Given the description of an element on the screen output the (x, y) to click on. 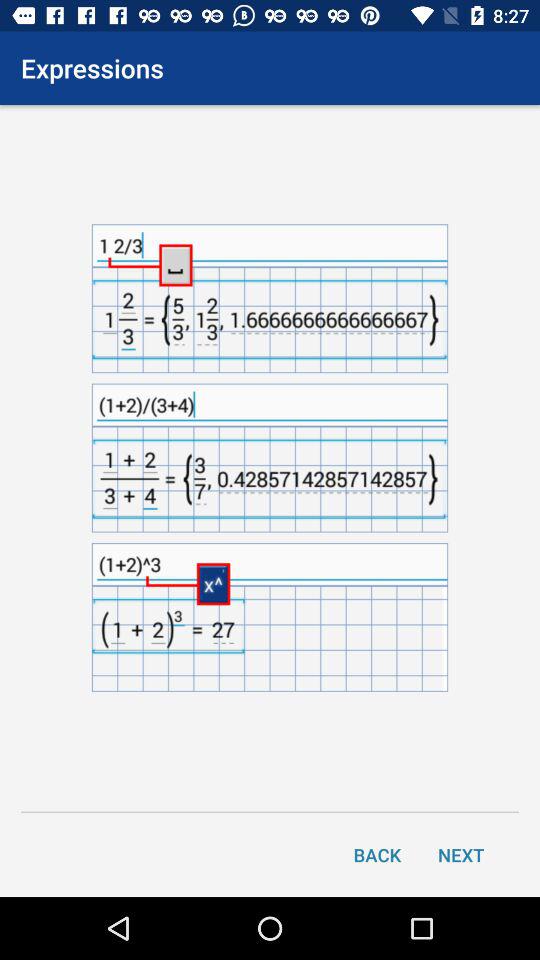
launch the icon to the right of back (461, 854)
